Given the description of an element on the screen output the (x, y) to click on. 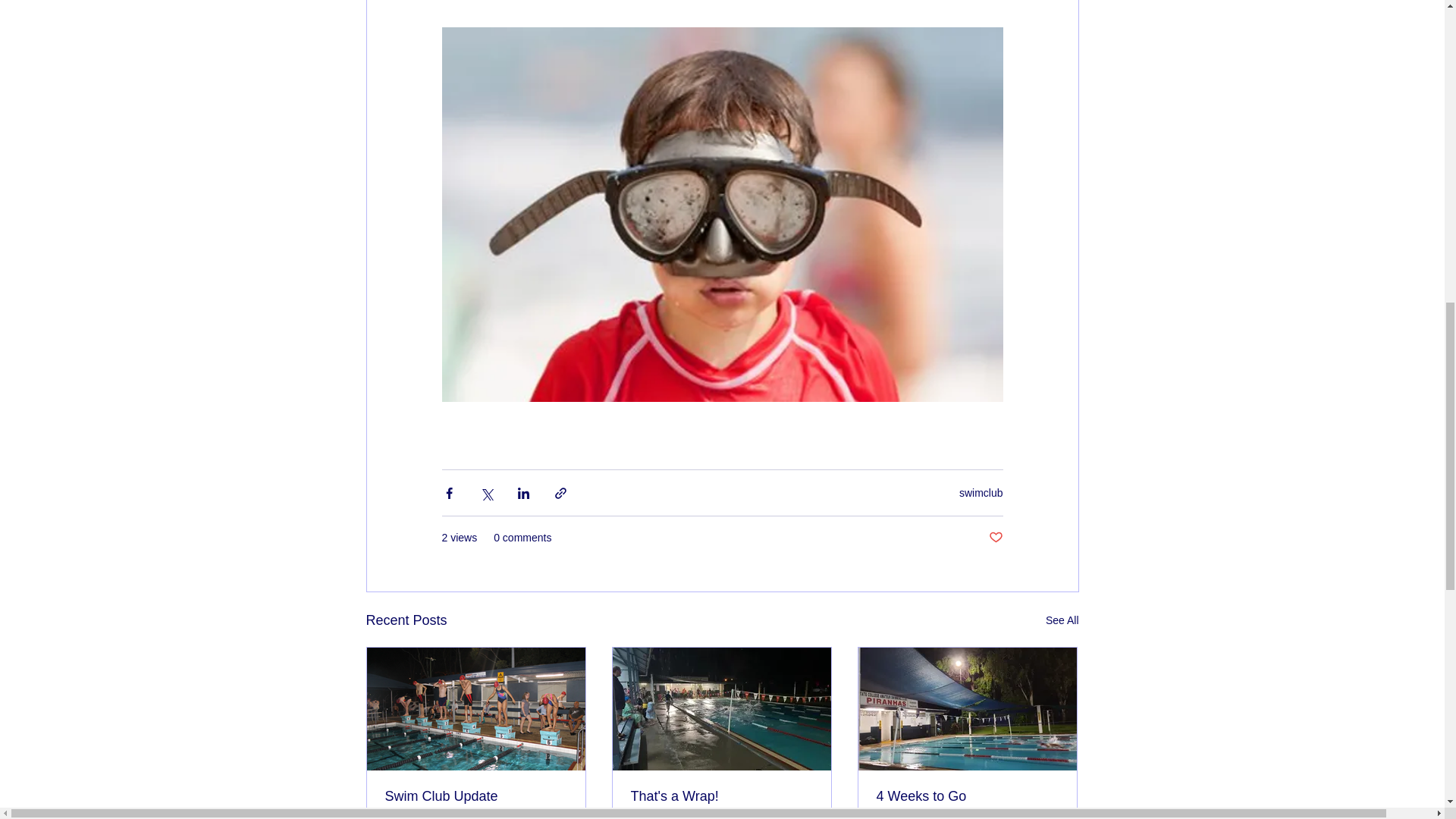
Swim Club Update (476, 796)
Post not marked as liked (995, 537)
That's a Wrap! (721, 796)
swimclub (981, 492)
See All (1061, 620)
4 Weeks to Go (967, 796)
